Given the description of an element on the screen output the (x, y) to click on. 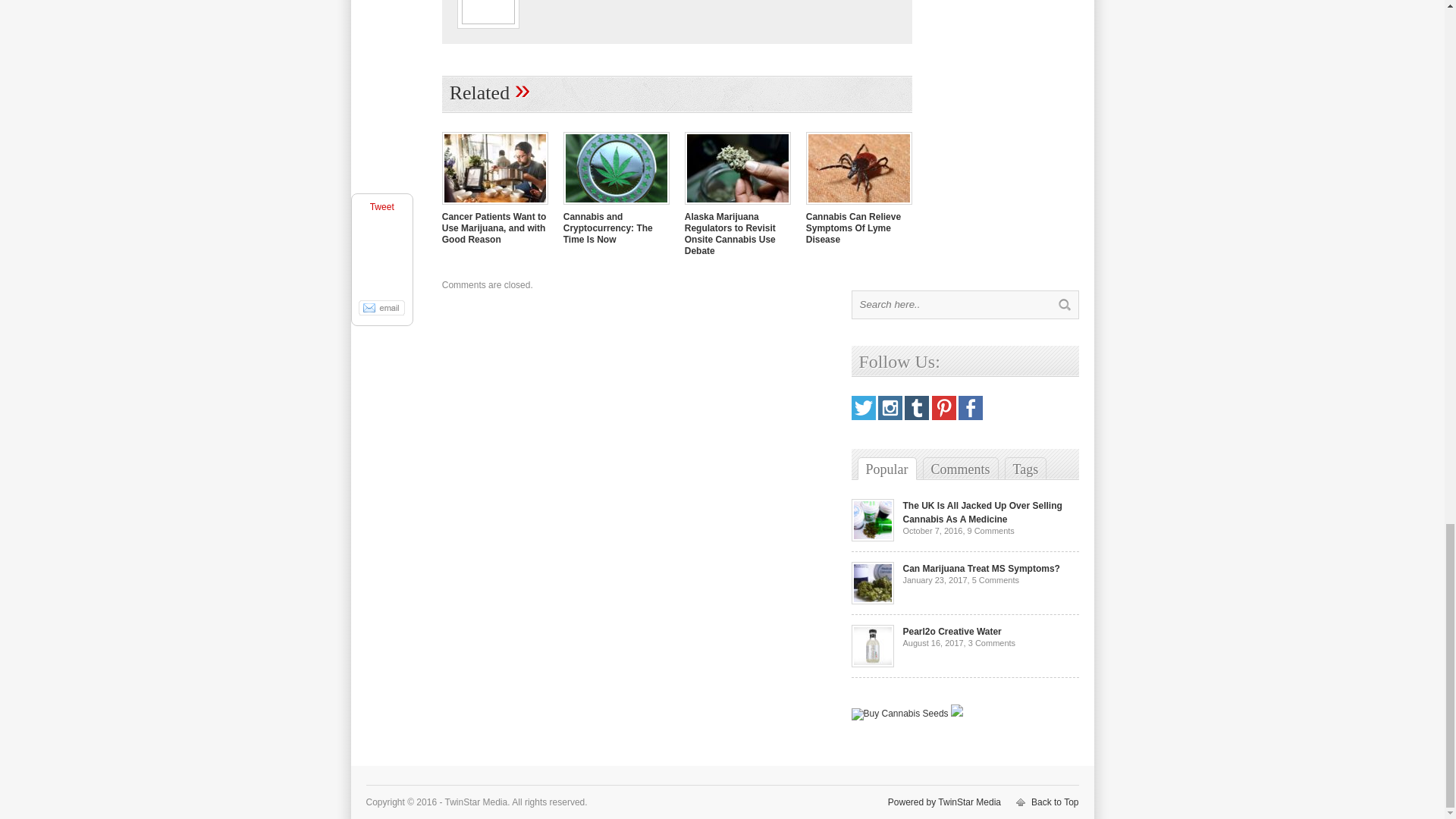
Cancer Patients Want to Use Marijuana, and with Good Reason (495, 205)
Instagram (889, 416)
Cancer Patients Want to Use Marijuana, and with Good Reason (494, 227)
Pinterest (943, 416)
Search here.. (951, 304)
Tumblr (916, 416)
Cancer Patients Want to Use Marijuana, and with Good Reason (494, 227)
Cannabis and Cryptocurrency: The Time Is Now (607, 227)
Twitter (862, 416)
Cannabis Can Relieve Symptoms Of Lyme Disease (859, 205)
Cannabis and Cryptocurrency: The Time Is Now (607, 227)
Cannabis Can Relieve Symptoms Of Lyme Disease (853, 227)
